Given the description of an element on the screen output the (x, y) to click on. 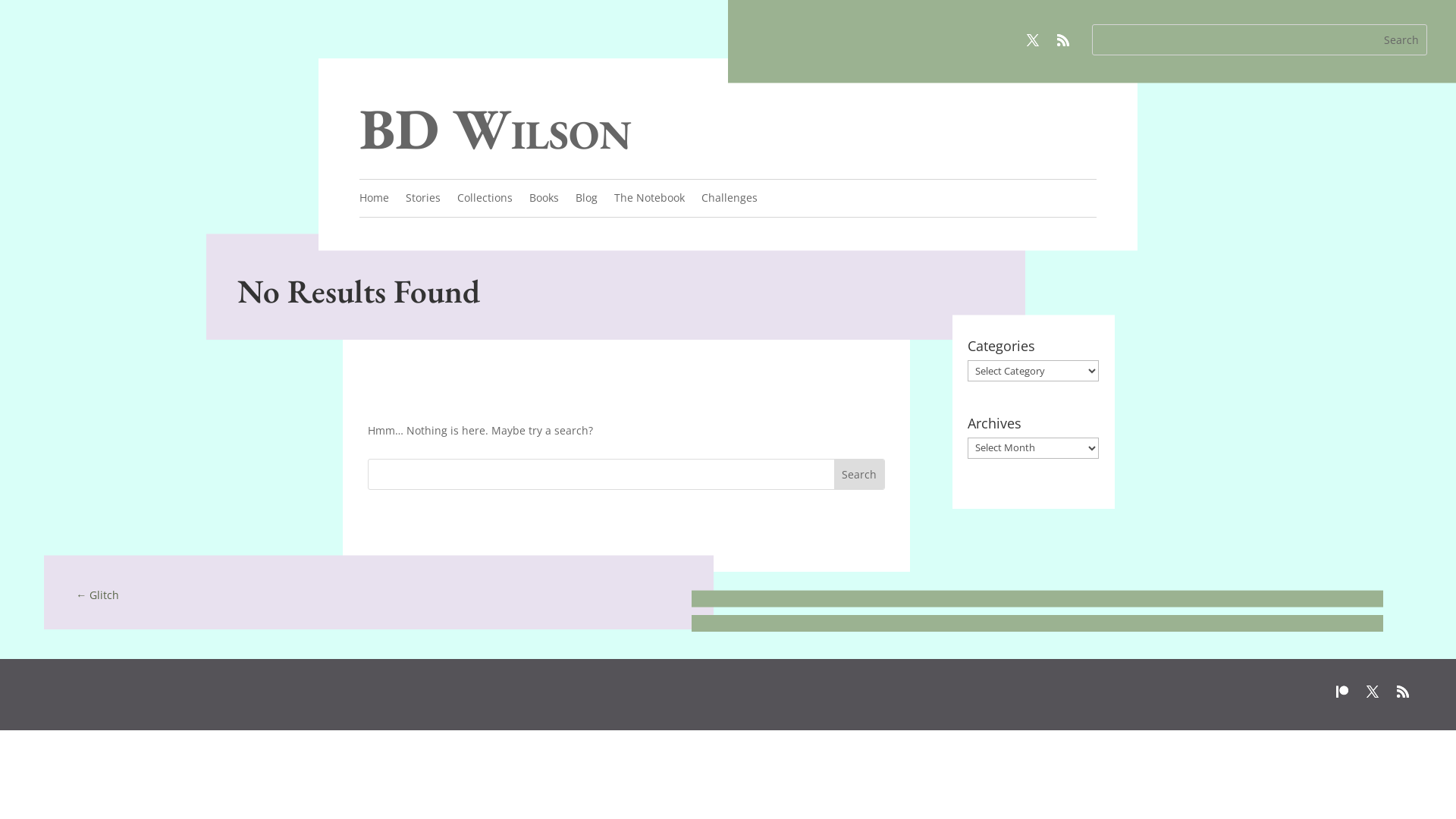
Follow on RSS Element type: hover (1063, 40)
The Notebook Element type: text (649, 200)
Home Element type: text (374, 200)
Search Element type: text (1401, 39)
Books Element type: text (543, 200)
Follow on X Element type: hover (1032, 40)
Follow on RSS Element type: hover (1402, 691)
Collections Element type: text (484, 200)
Follow on Patreon Element type: hover (1342, 691)
Follow on X Element type: hover (1372, 691)
Search Element type: text (859, 474)
Challenges Element type: text (729, 200)
Stories Element type: text (422, 200)
Blog Element type: text (586, 200)
